Given the description of an element on the screen output the (x, y) to click on. 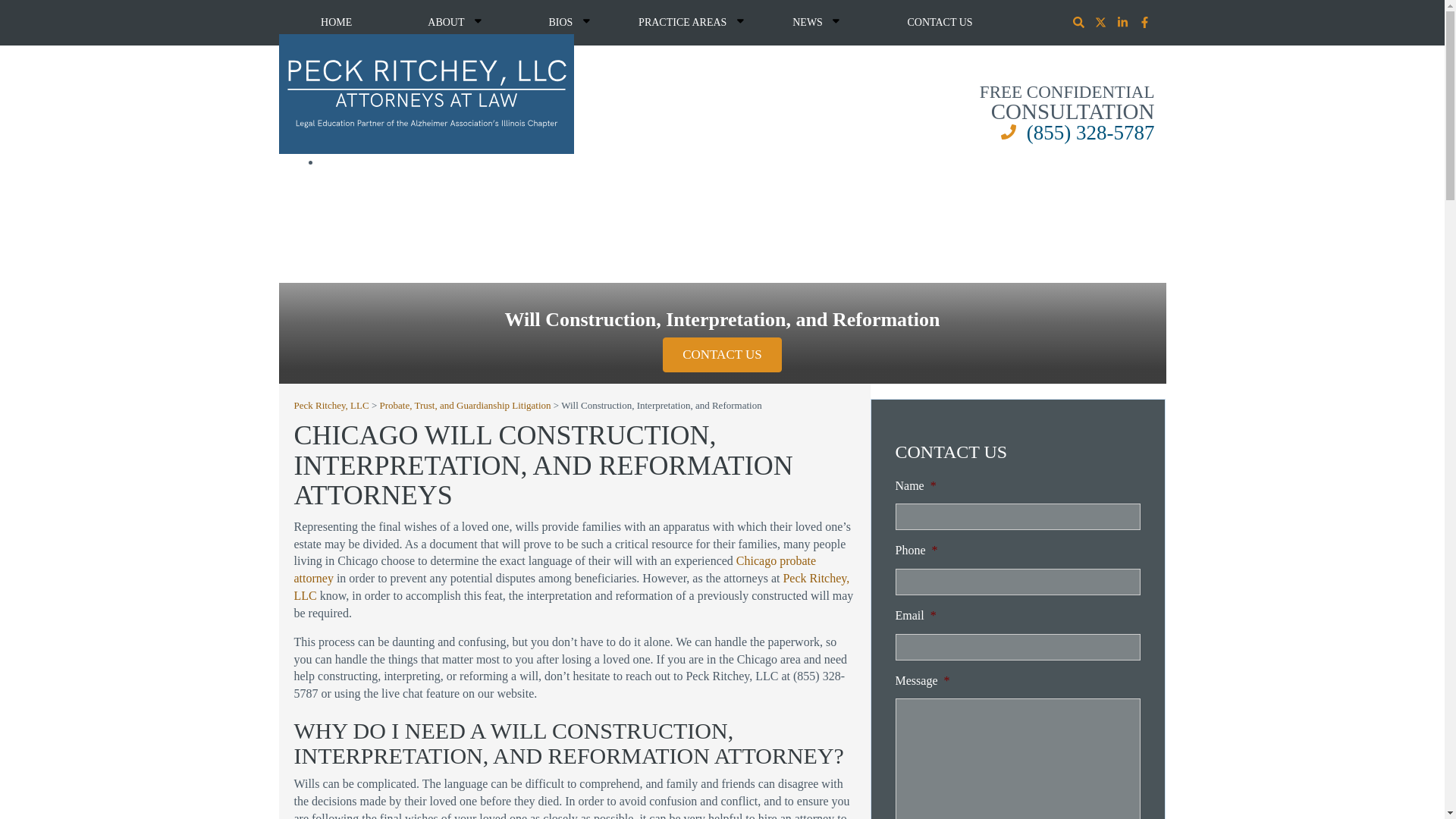
HOME (336, 22)
PRACTICE AREAS (690, 22)
ABOUT (454, 22)
Go to Probate, Trust, and Guardianship Litigation. (465, 405)
BIOS (569, 22)
NEWS (815, 22)
Go to Peck Ritchey, LLC. (331, 405)
CONTACT US (940, 22)
Peck Ritchey, LLC (427, 93)
